Given the description of an element on the screen output the (x, y) to click on. 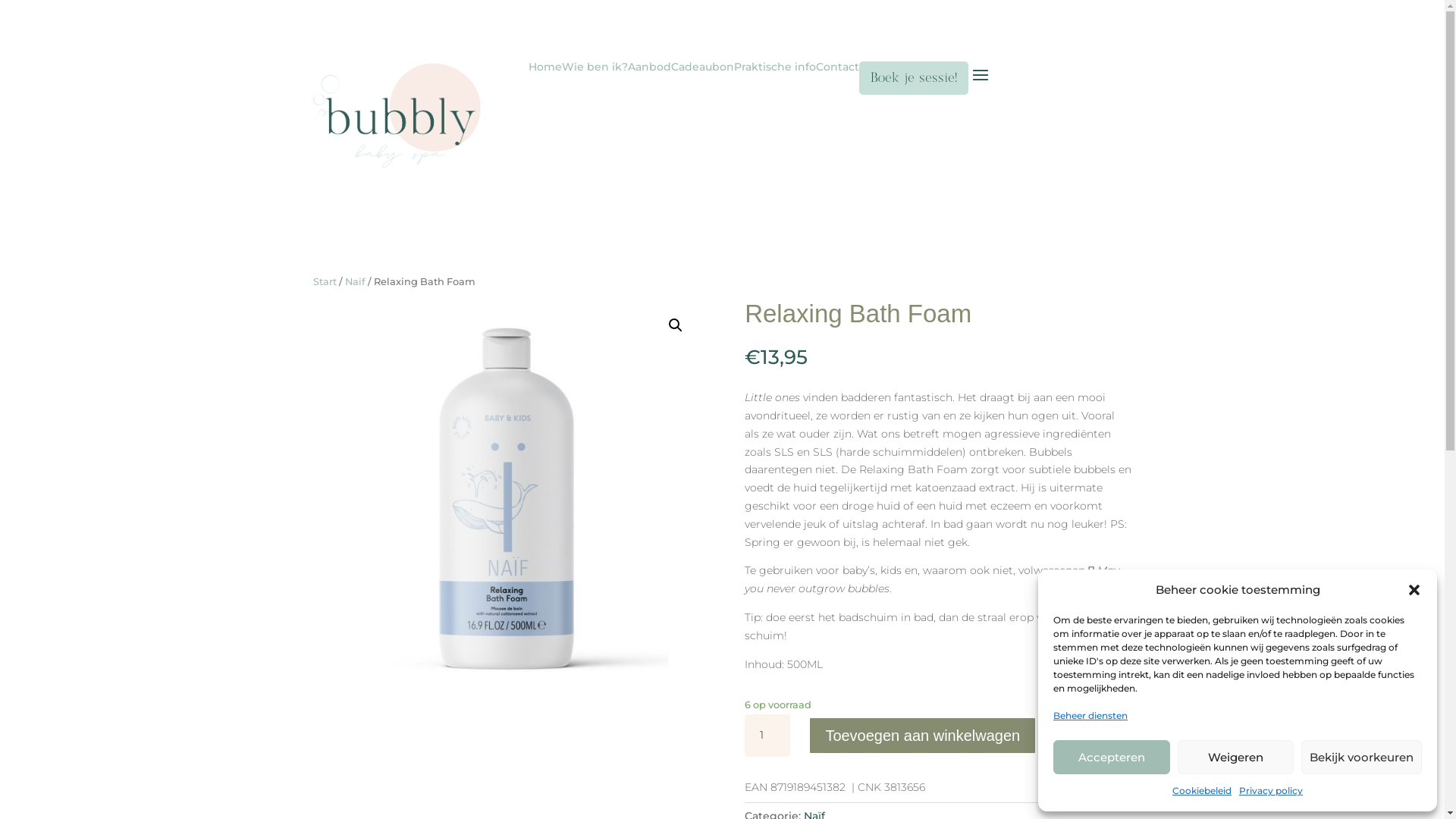
Bubbly-logo-1 Element type: hover (397, 114)
Wie ben ik? Element type: text (594, 77)
Weigeren Element type: text (1234, 757)
Accepteren Element type: text (1111, 757)
Home Element type: text (544, 77)
Cadeaubon Element type: text (702, 77)
Aanbod Element type: text (649, 77)
Praktische info Element type: text (774, 77)
Contact Element type: text (837, 77)
Privacy policy Element type: text (1270, 790)
Cookiebeleid Element type: text (1201, 790)
Toevoegen aan winkelwagen Element type: text (922, 735)
Bekijk voorkeuren Element type: text (1361, 757)
Beheer diensten Element type: text (1090, 715)
Start Element type: text (323, 281)
Boek je sessie! Element type: text (913, 77)
